Given the description of an element on the screen output the (x, y) to click on. 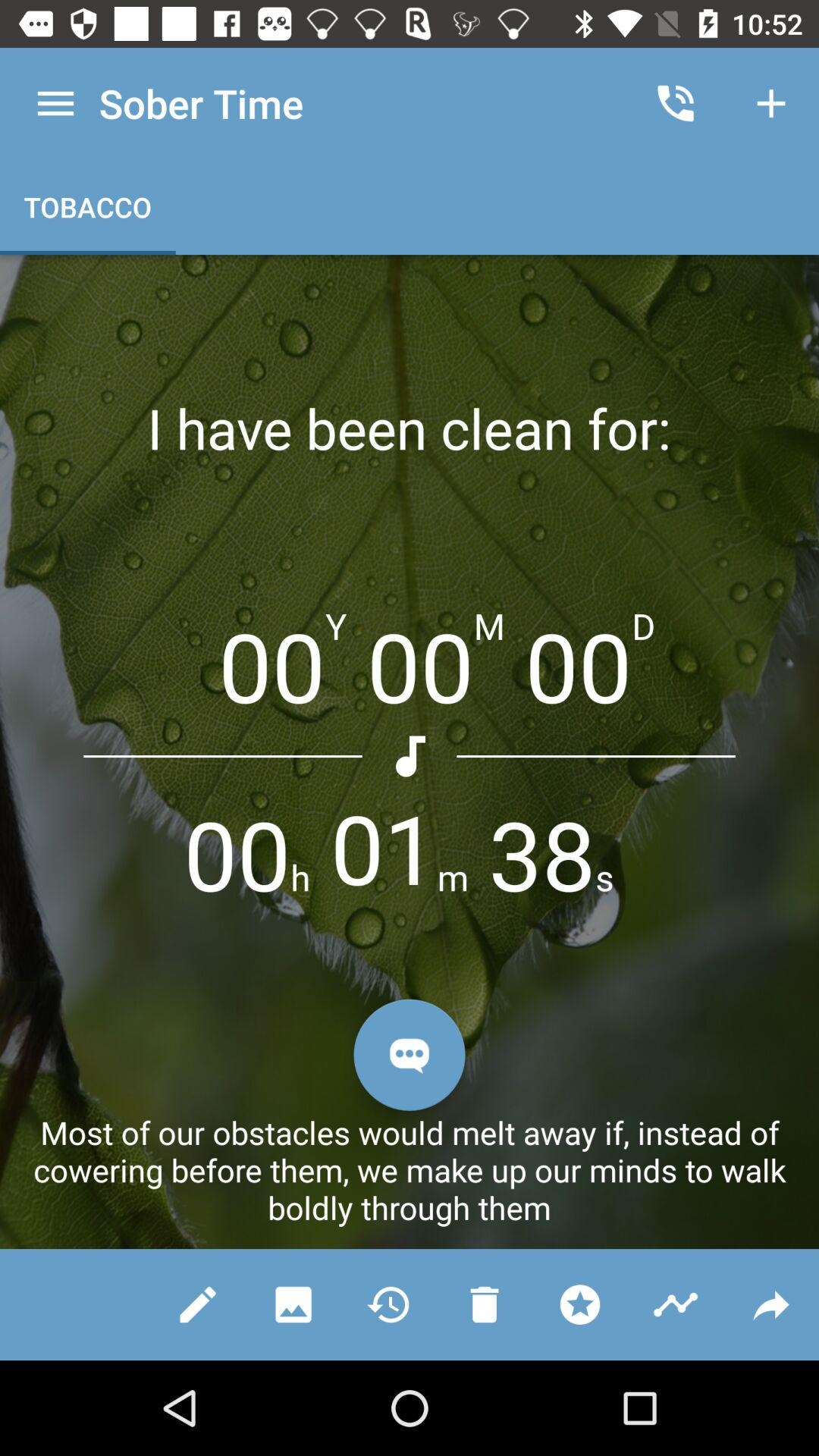
tap the icon next to the   sober time icon (55, 103)
